Given the description of an element on the screen output the (x, y) to click on. 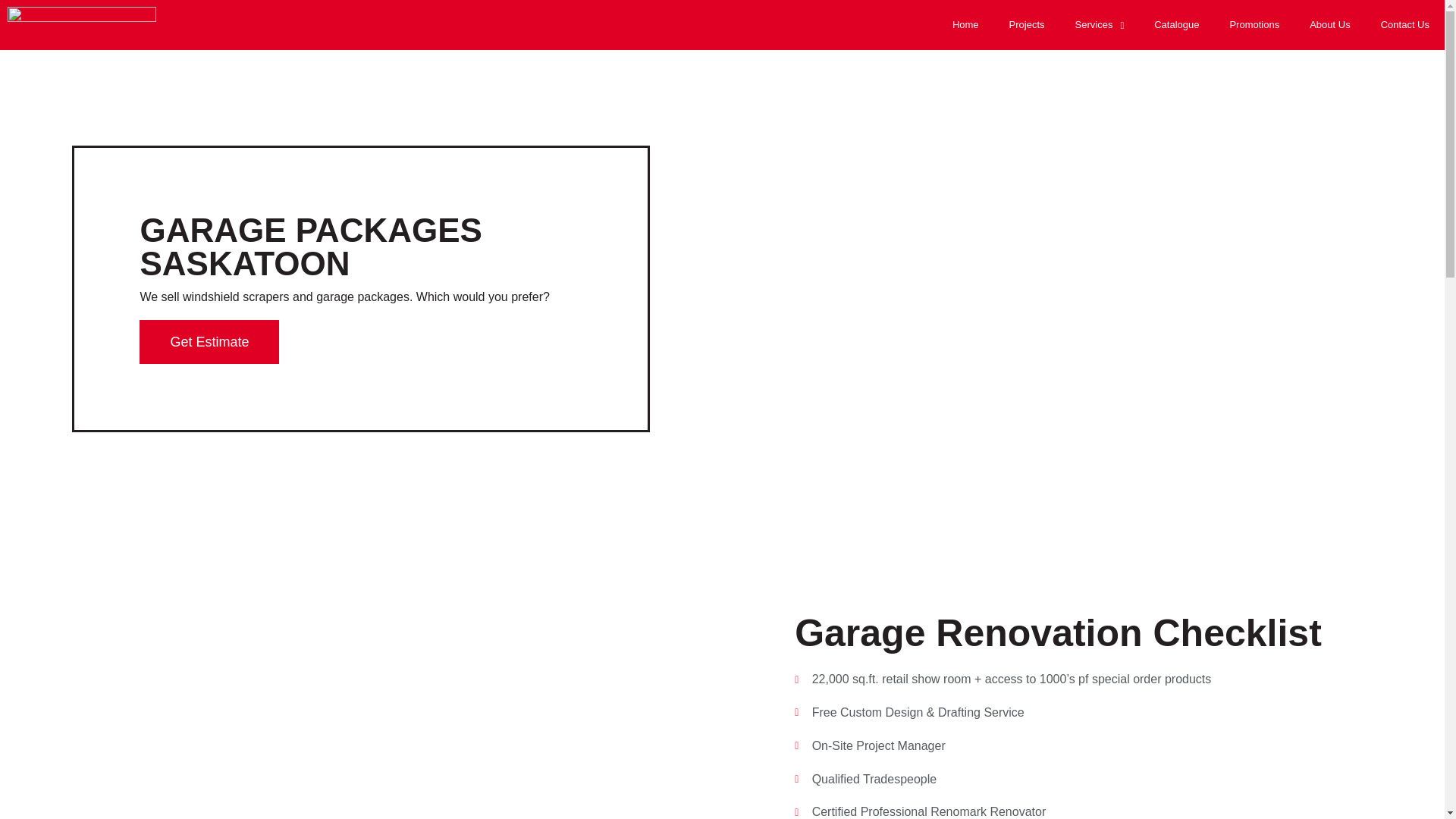
About Us (1329, 24)
On-Site Project Manager (1082, 746)
Certified Professional Renomark Renovator (1082, 810)
Promotions (1254, 24)
Qualified Tradespeople (1082, 780)
Services (1099, 24)
Home (965, 24)
Catalogue (1176, 24)
Get Estimate (209, 341)
Projects (1026, 24)
